Given the description of an element on the screen output the (x, y) to click on. 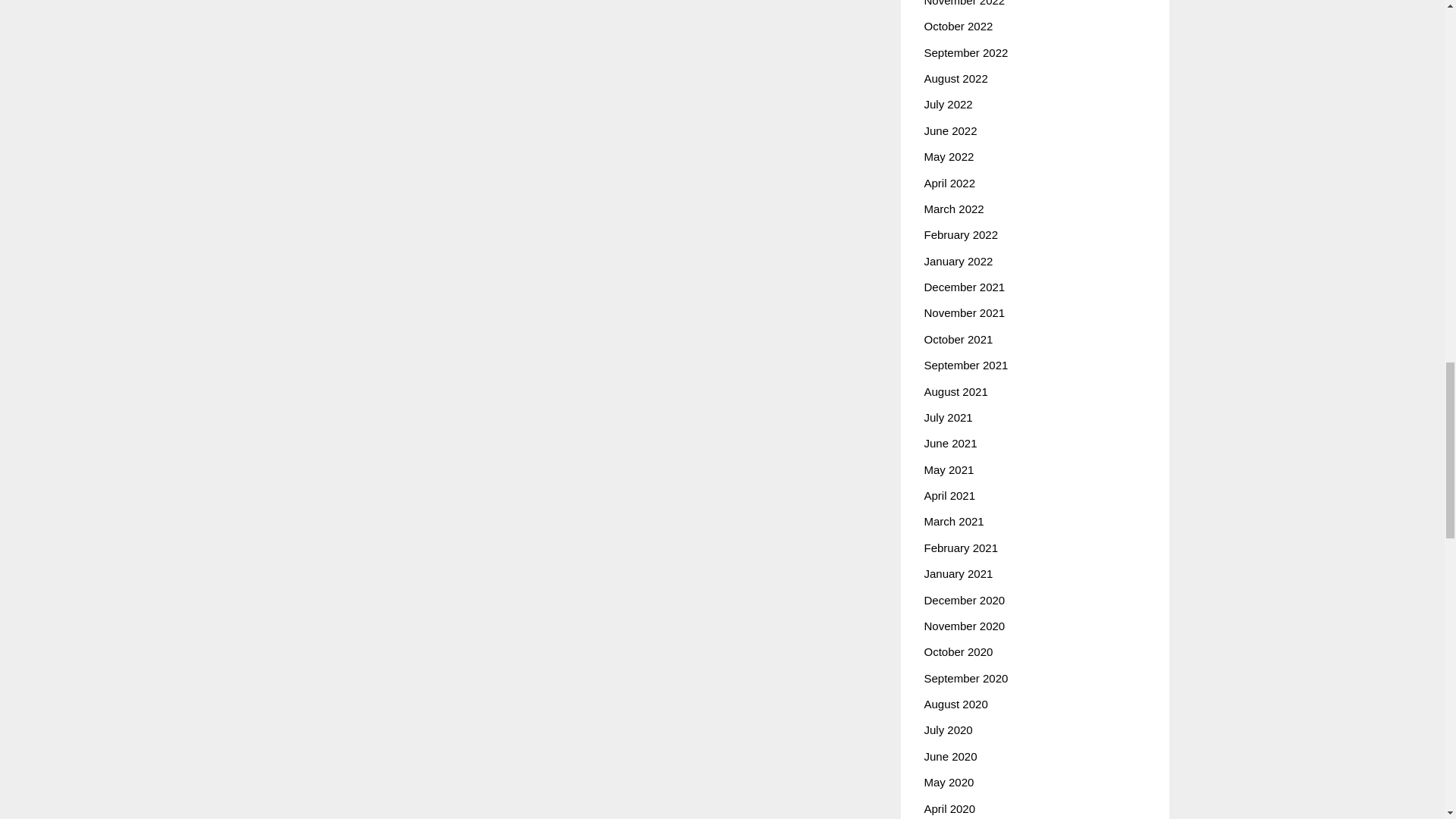
June 2022 (949, 130)
October 2022 (957, 25)
September 2022 (965, 51)
August 2022 (955, 78)
July 2022 (947, 103)
November 2022 (963, 3)
